Given the description of an element on the screen output the (x, y) to click on. 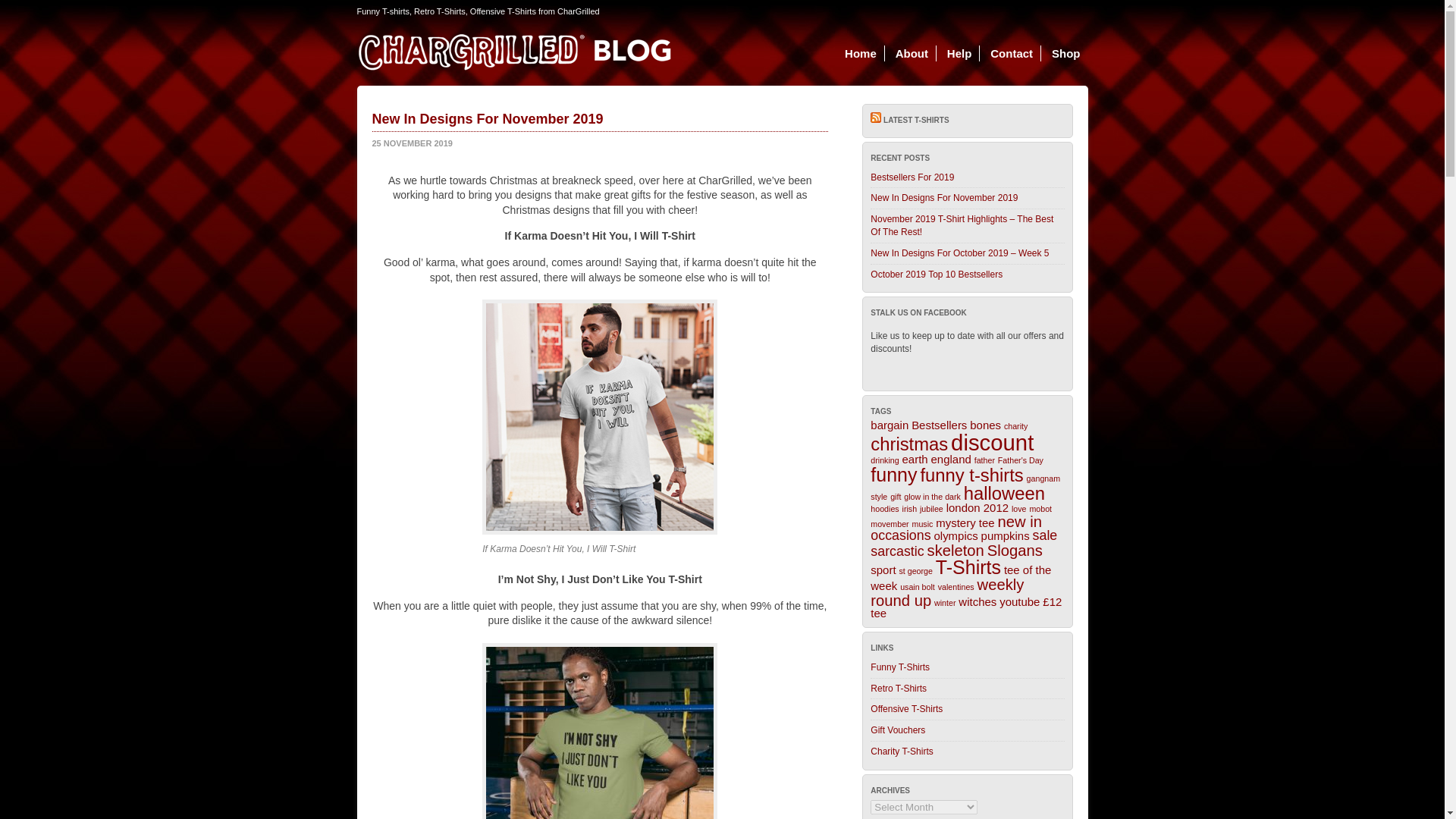
Help (959, 53)
October 2019 Top 10 Bestsellers (936, 274)
Blog Home (861, 53)
LATEST T-SHIRTS (916, 120)
New In Designs For November 2019 (943, 197)
Shop Now (1065, 53)
bargain (889, 424)
About Us (912, 53)
Funny T-Shirts from CharGrilled (900, 666)
Bestsellers For 2019 (911, 176)
About (912, 53)
Contact (1011, 53)
Retro T-Shirts from CharGrilled (898, 688)
Gift Vouchers from CharGrilled (897, 729)
CharGrilled Funny T-Shirts Blog (512, 50)
